Given the description of an element on the screen output the (x, y) to click on. 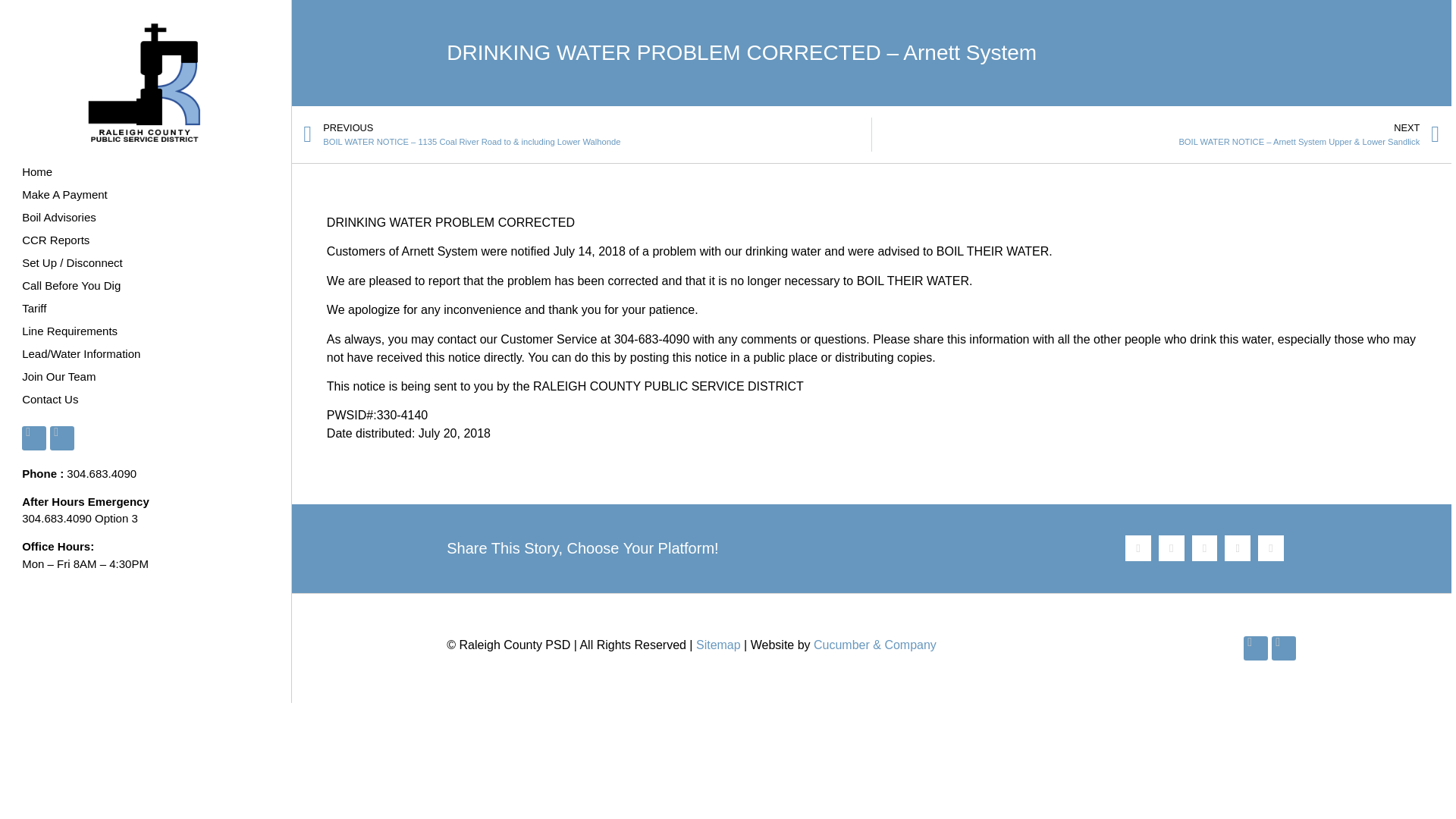
Contact Us (145, 399)
CCR Reports (145, 240)
Join Our Team (145, 376)
Boil Advisories (145, 217)
Sitemap (718, 644)
Call Before You Dig (145, 285)
Tariff (145, 308)
Line Requirements (145, 331)
Make A Payment (145, 194)
Home (145, 171)
